Given the description of an element on the screen output the (x, y) to click on. 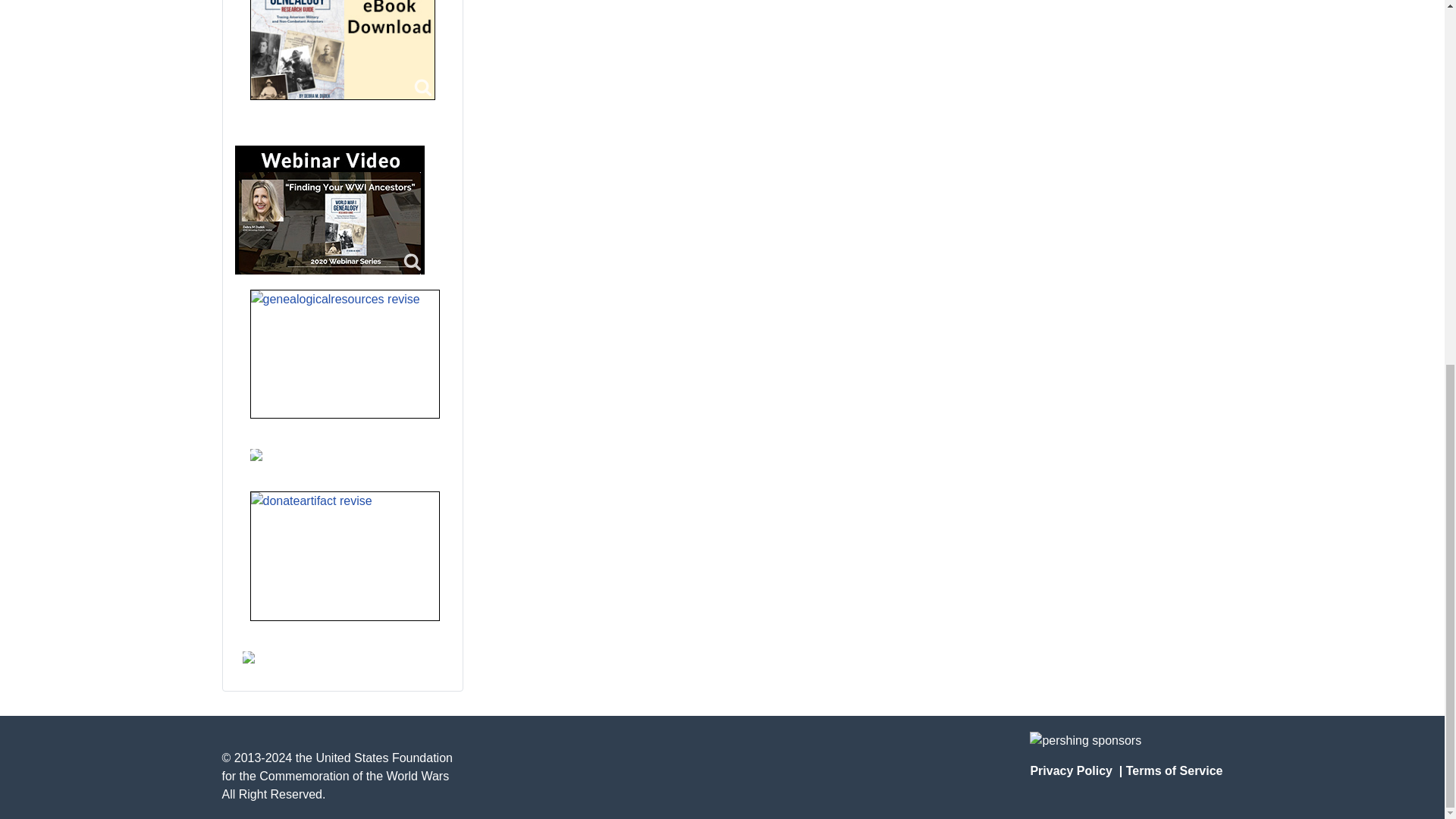
Link to Navy Log at the US Navy Memorial (248, 657)
Link to the Finding Your Ancestor Video on Vimeo (329, 209)
